Given the description of an element on the screen output the (x, y) to click on. 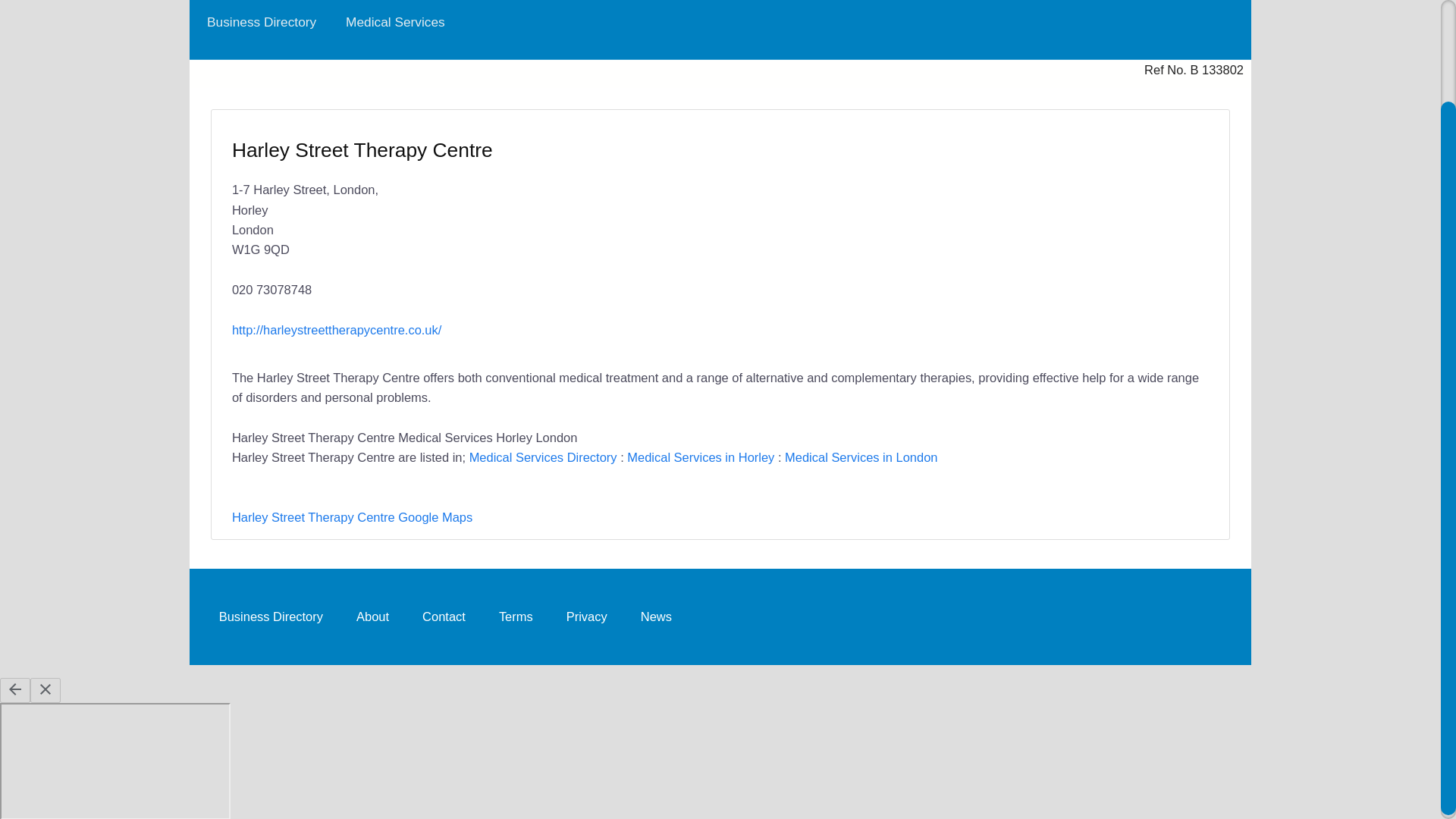
Terms (515, 615)
Medical Services (395, 22)
Business Directory (270, 615)
Business Directory (261, 22)
News (656, 615)
Privacy (586, 615)
Advertisement (956, 227)
Contact (444, 615)
Medical Services in London (860, 457)
Medical Services in Horley (700, 457)
